Given the description of an element on the screen output the (x, y) to click on. 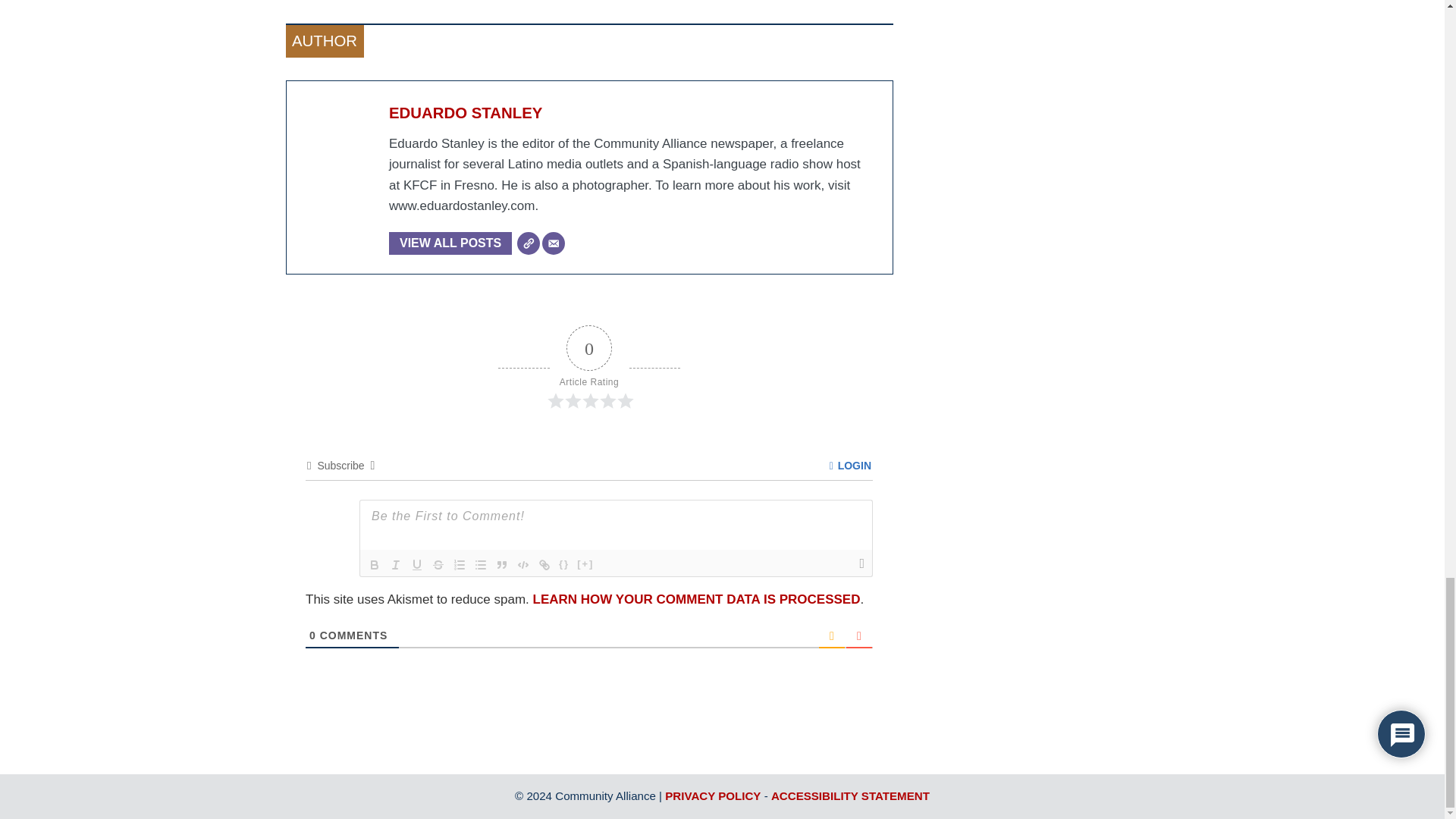
Blockquote (502, 565)
Link (544, 565)
Eduardo Stanley (464, 112)
Ordered List (459, 565)
Unordered List (481, 565)
Italic (395, 565)
Source Code (563, 565)
Underline (417, 565)
Code Block (523, 565)
View all posts (450, 242)
EDUARDO STANLEY (464, 112)
VIEW ALL POSTS (450, 242)
Bold (374, 565)
Strike (438, 565)
LOGIN (849, 465)
